Given the description of an element on the screen output the (x, y) to click on. 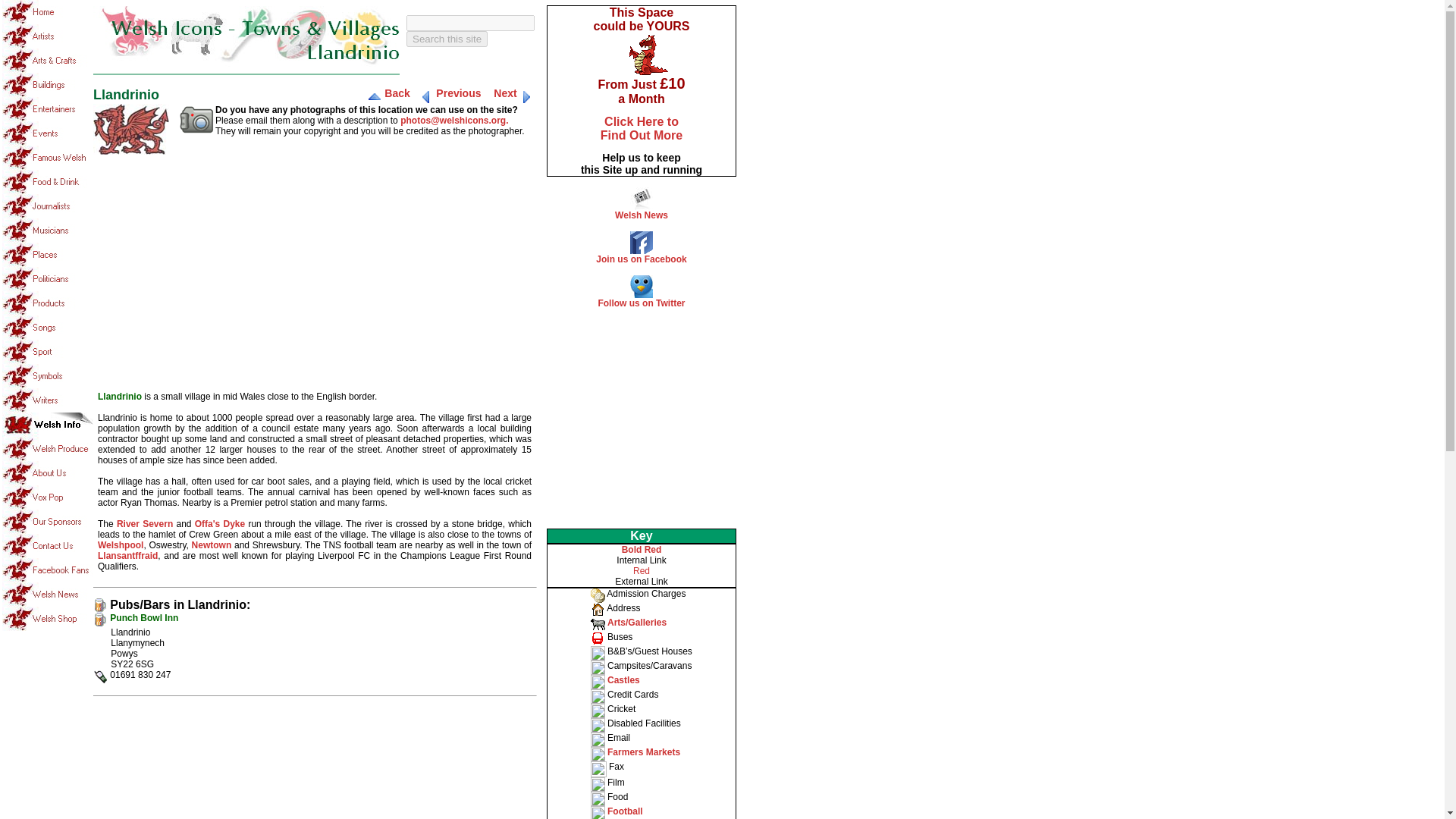
Writers (47, 400)
Back (396, 93)
Buildings (47, 84)
Offa's Dyke (219, 523)
Famous Welsh (47, 157)
Llansantffraid (127, 555)
Welsh Info (47, 424)
Welsh Produce (47, 448)
Artists (47, 36)
Places (47, 254)
